Given the description of an element on the screen output the (x, y) to click on. 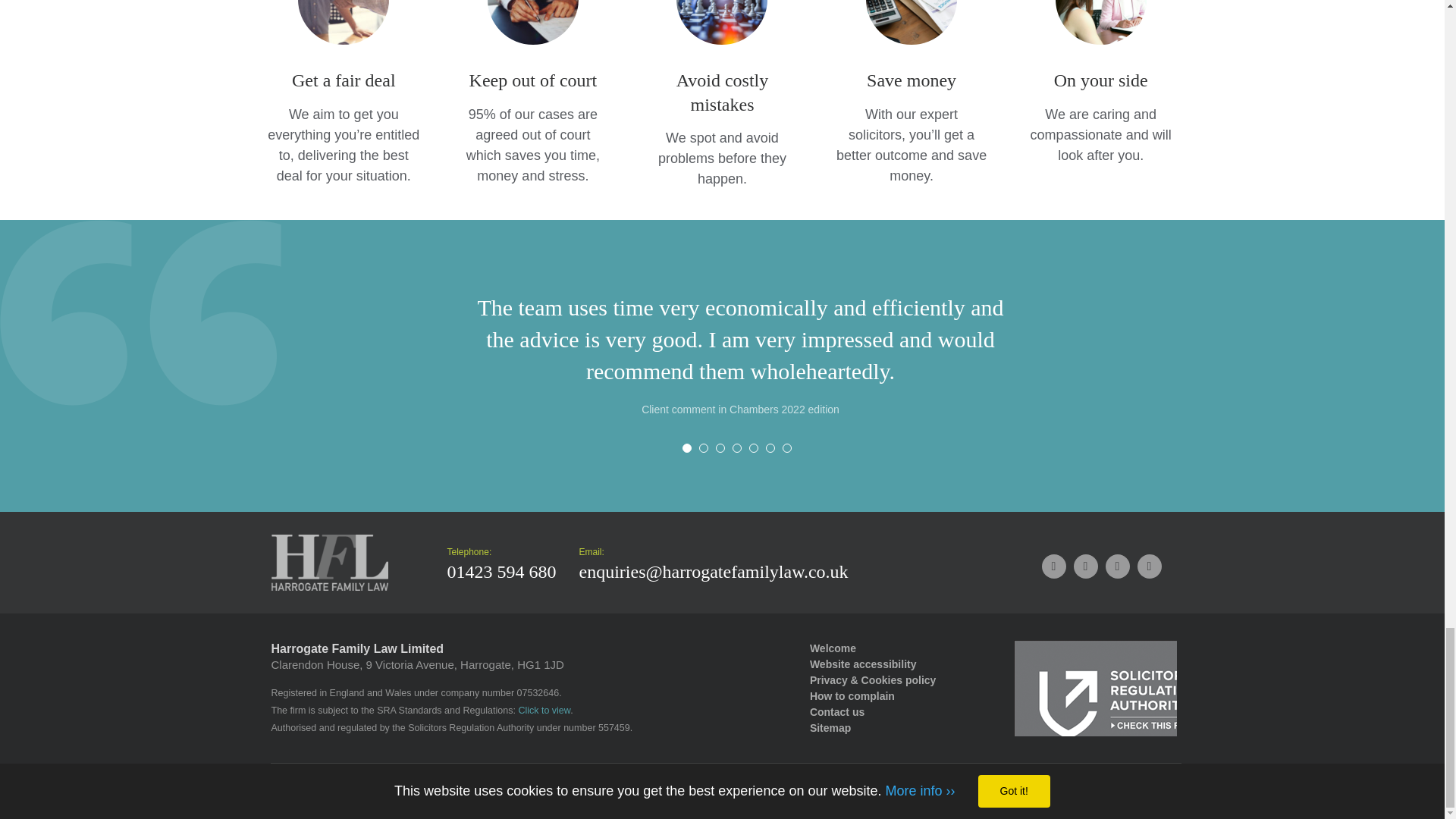
Harrogate Family Law Logo (329, 562)
The Harrogate Family Law team (1101, 22)
Doing maths (911, 22)
Chess game (722, 22)
